Given the description of an element on the screen output the (x, y) to click on. 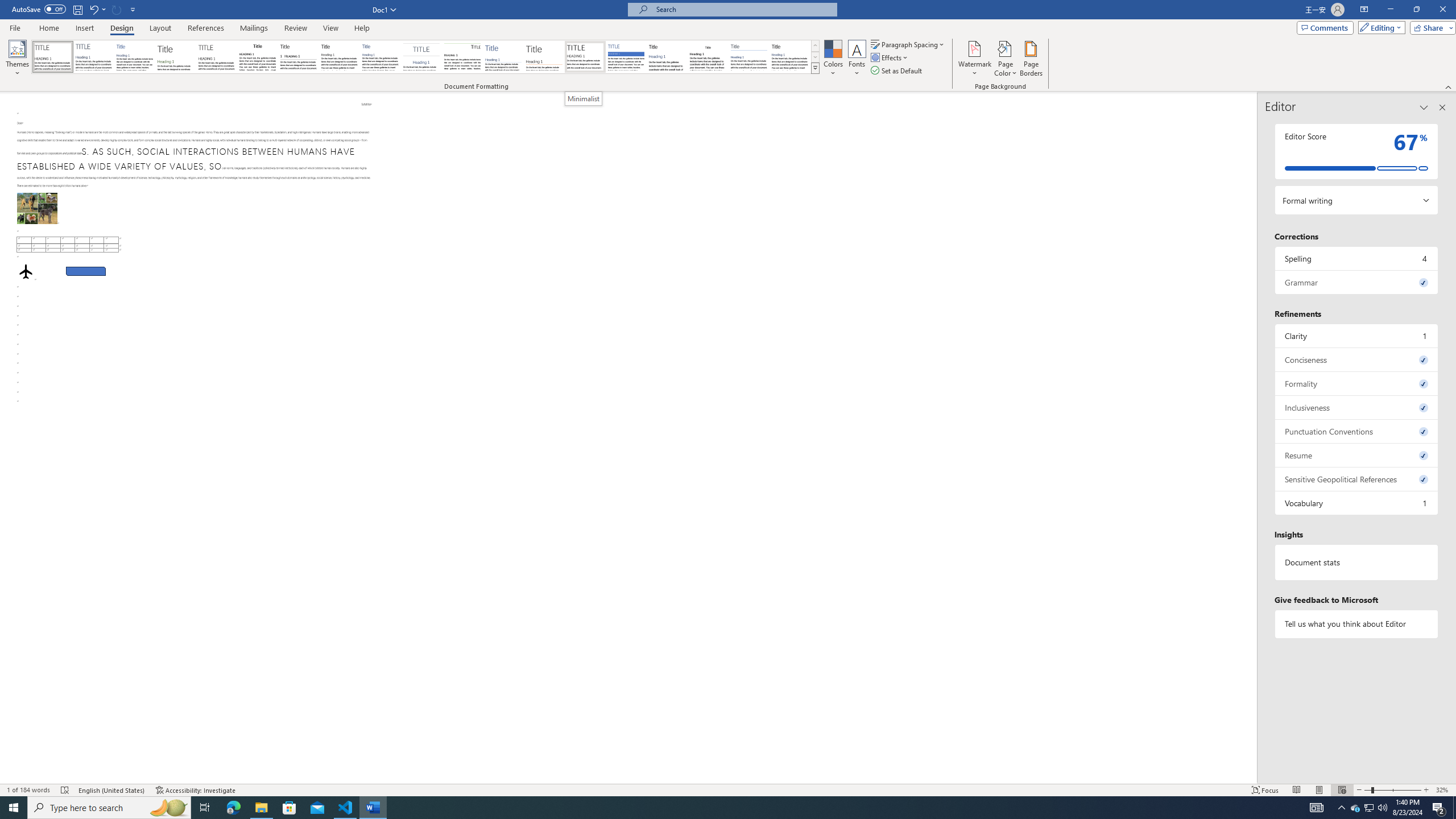
Undo Paragraph Alignment (92, 9)
Morphological variation in six dogs (36, 208)
Minimalist (584, 56)
Black & White (Capitalized) (216, 56)
Grammar, 0 issues. Press space or enter to review items. (1356, 282)
Minimalist (583, 98)
Paragraph Spacing (908, 44)
